Given the description of an element on the screen output the (x, y) to click on. 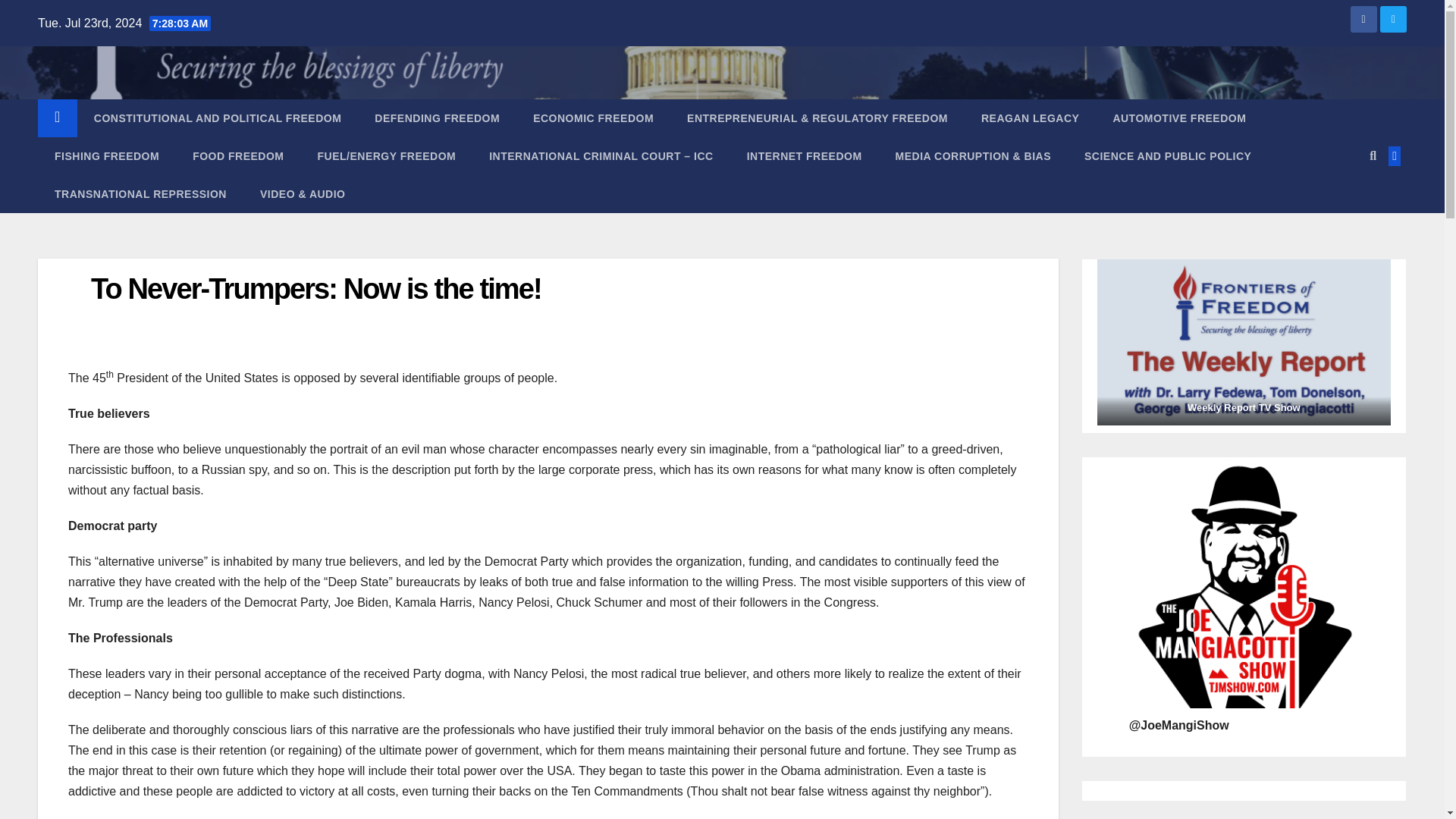
CONSTITUTIONAL AND POLITICAL FREEDOM (217, 118)
INTERNET FREEDOM (804, 156)
AUTOMOTIVE FREEDOM (1179, 118)
TRANSNATIONAL REPRESSION (140, 193)
SCIENCE AND PUBLIC POLICY (1167, 156)
Permalink to: To Never-Trumpers: Now is the time! (315, 288)
Transnational Repression (140, 193)
Internet Freedom (804, 156)
To Never-Trumpers: Now is the time! (315, 288)
International Criminal Court - ICC (600, 156)
Automotive Freedom (1179, 118)
Science and Public Policy (1167, 156)
Economic Freedom (592, 118)
FOOD FREEDOM (237, 156)
Fishing Freedom (106, 156)
